Given the description of an element on the screen output the (x, y) to click on. 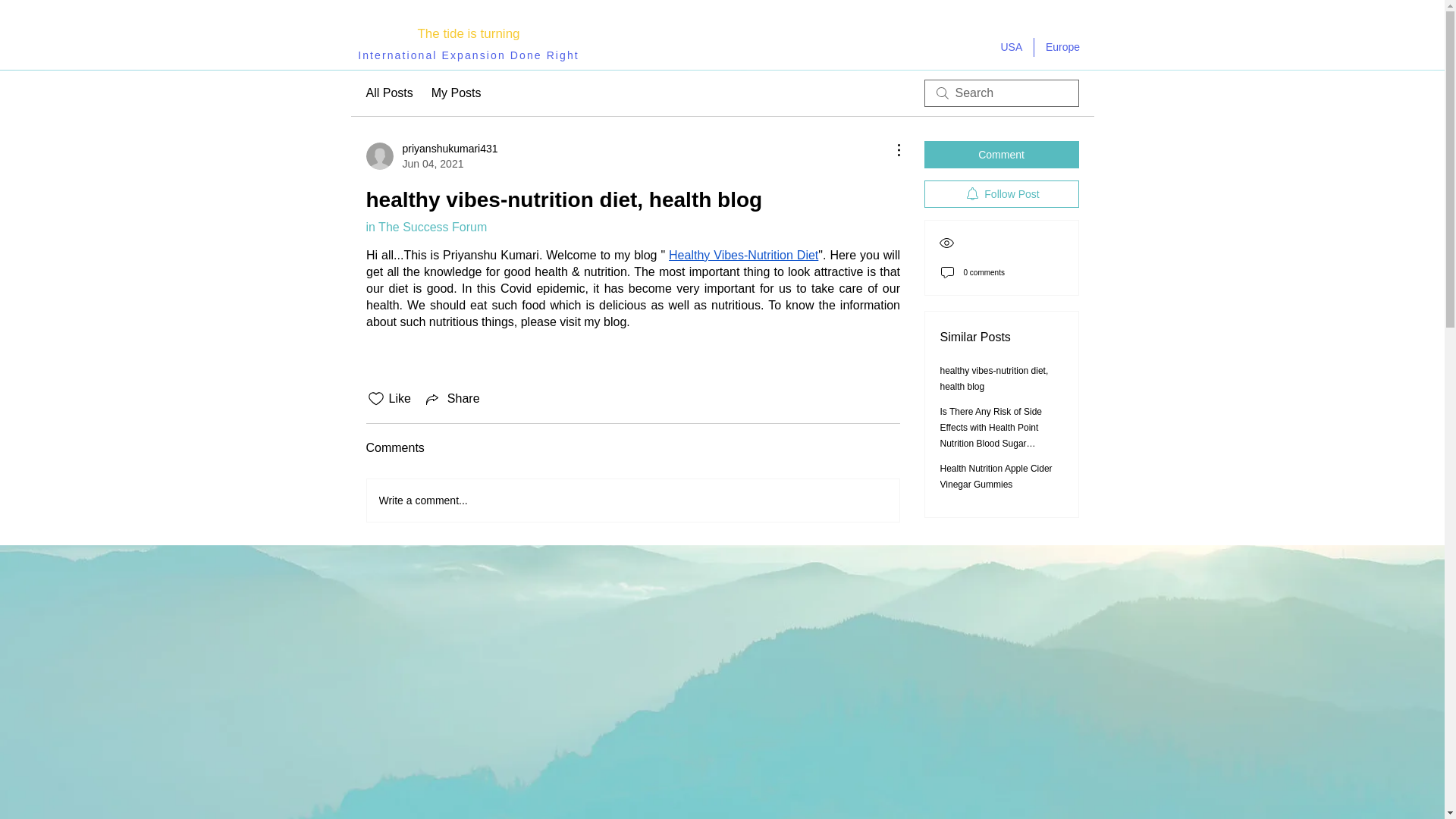
healthy vibes-nutrition diet, health blog (994, 378)
All Posts (388, 93)
Europe (1062, 46)
Follow Post (1000, 194)
USA (1010, 46)
Healthy Vibes-Nutrition Diet (743, 254)
Share (451, 398)
The tide is turning (467, 33)
My Posts (455, 93)
